Given the description of an element on the screen output the (x, y) to click on. 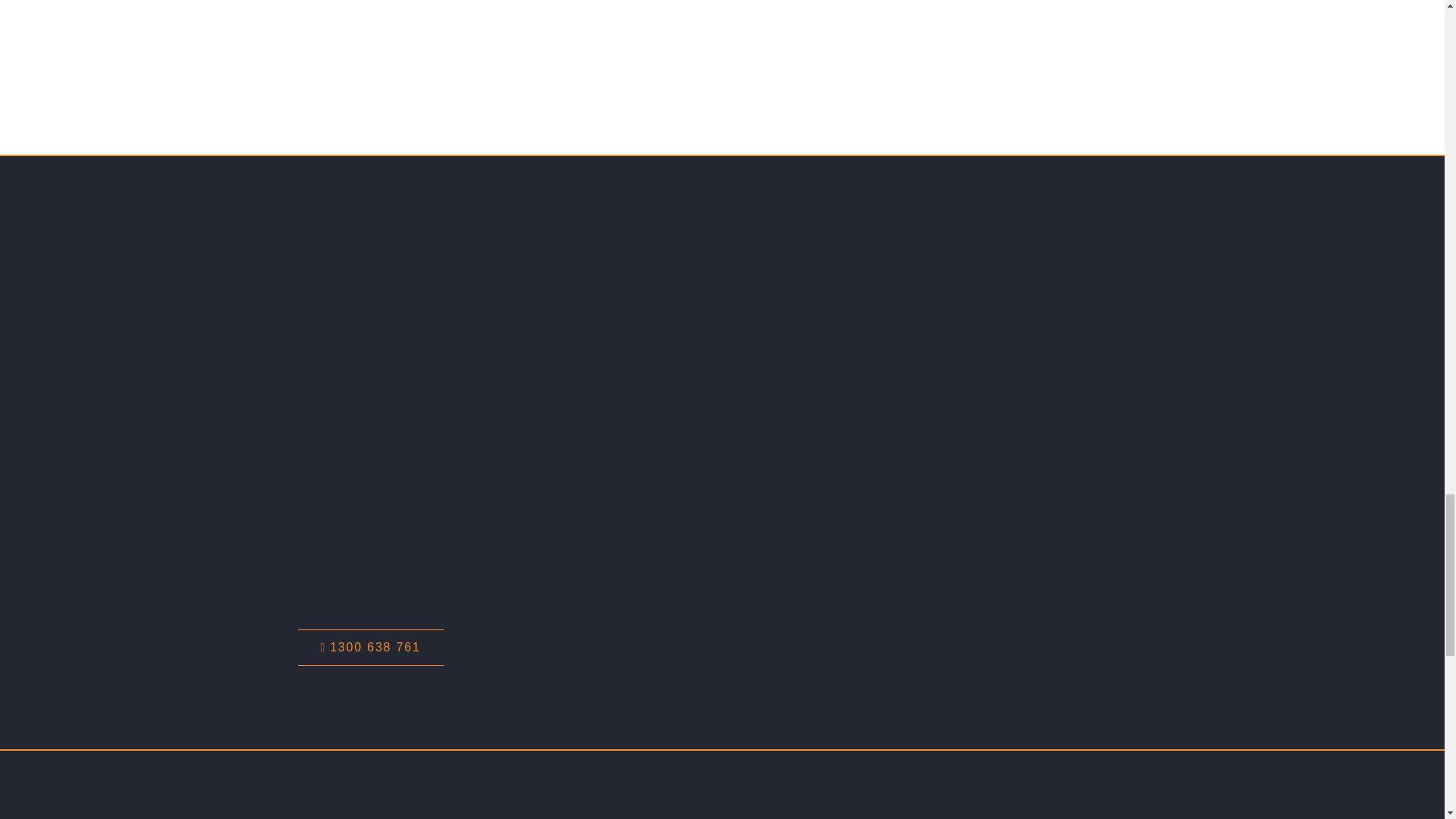
1300 638 761 (369, 647)
